Given the description of an element on the screen output the (x, y) to click on. 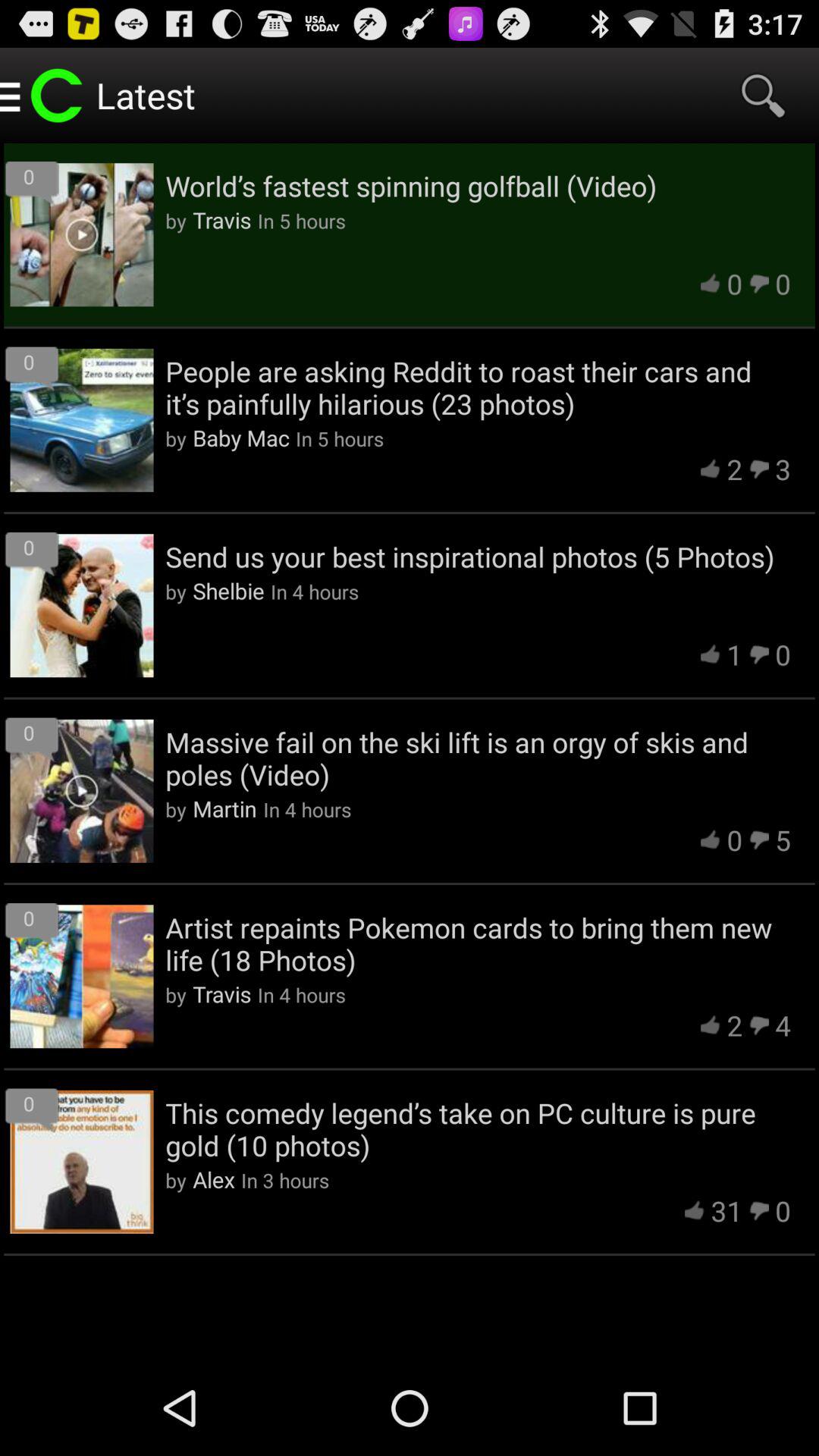
choose icon below the this comedy legend app (726, 1210)
